Given the description of an element on the screen output the (x, y) to click on. 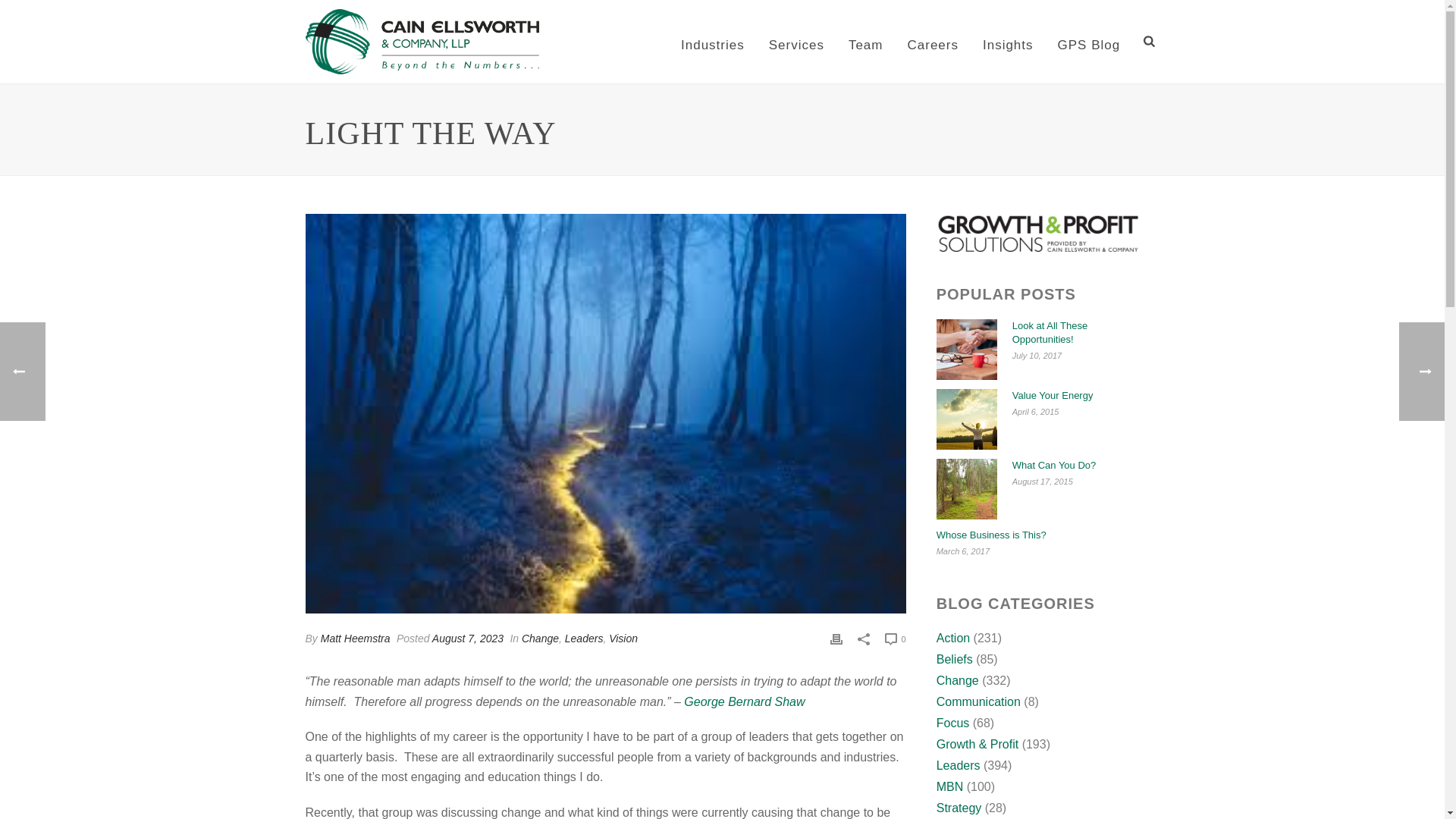
Industries (712, 41)
GPS Blog (1088, 41)
Insights (1008, 41)
Careers (932, 41)
August 7, 2023 (467, 638)
Change (540, 638)
Look at All These Opportunities! (966, 349)
Insights (1008, 41)
